Given the description of an element on the screen output the (x, y) to click on. 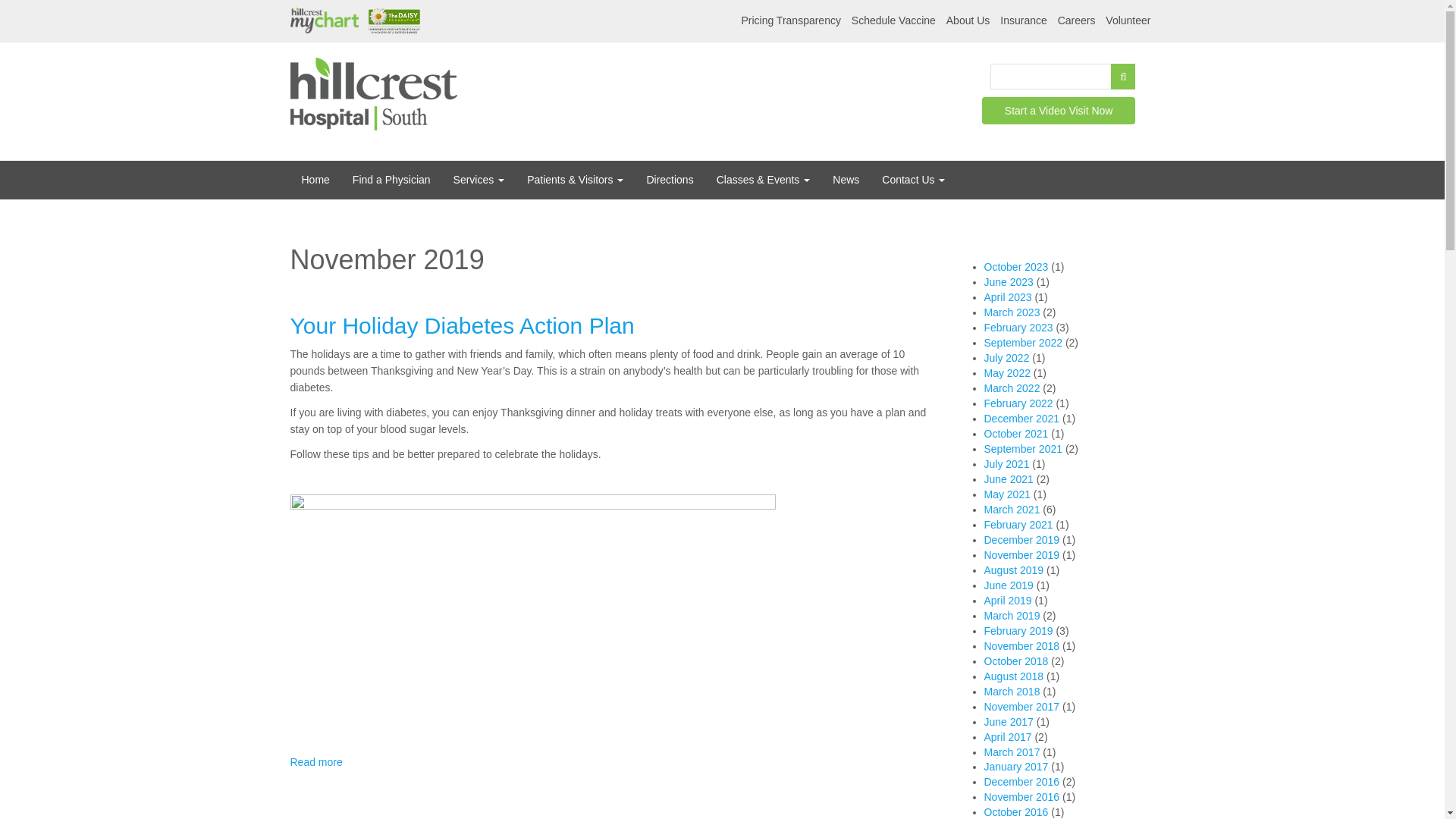
Schedule Vaccine (893, 20)
Find a Physician (391, 179)
mychart (323, 21)
Volunteer (1127, 20)
Services (479, 179)
Start a Video Visit Now (1058, 110)
Pricing Transparency (791, 20)
Search (1161, 76)
Careers (1077, 20)
Home (314, 179)
Insurance (1023, 20)
Enter the terms you wish to search for. (1051, 76)
Home (373, 92)
About Us (968, 20)
